Given the description of an element on the screen output the (x, y) to click on. 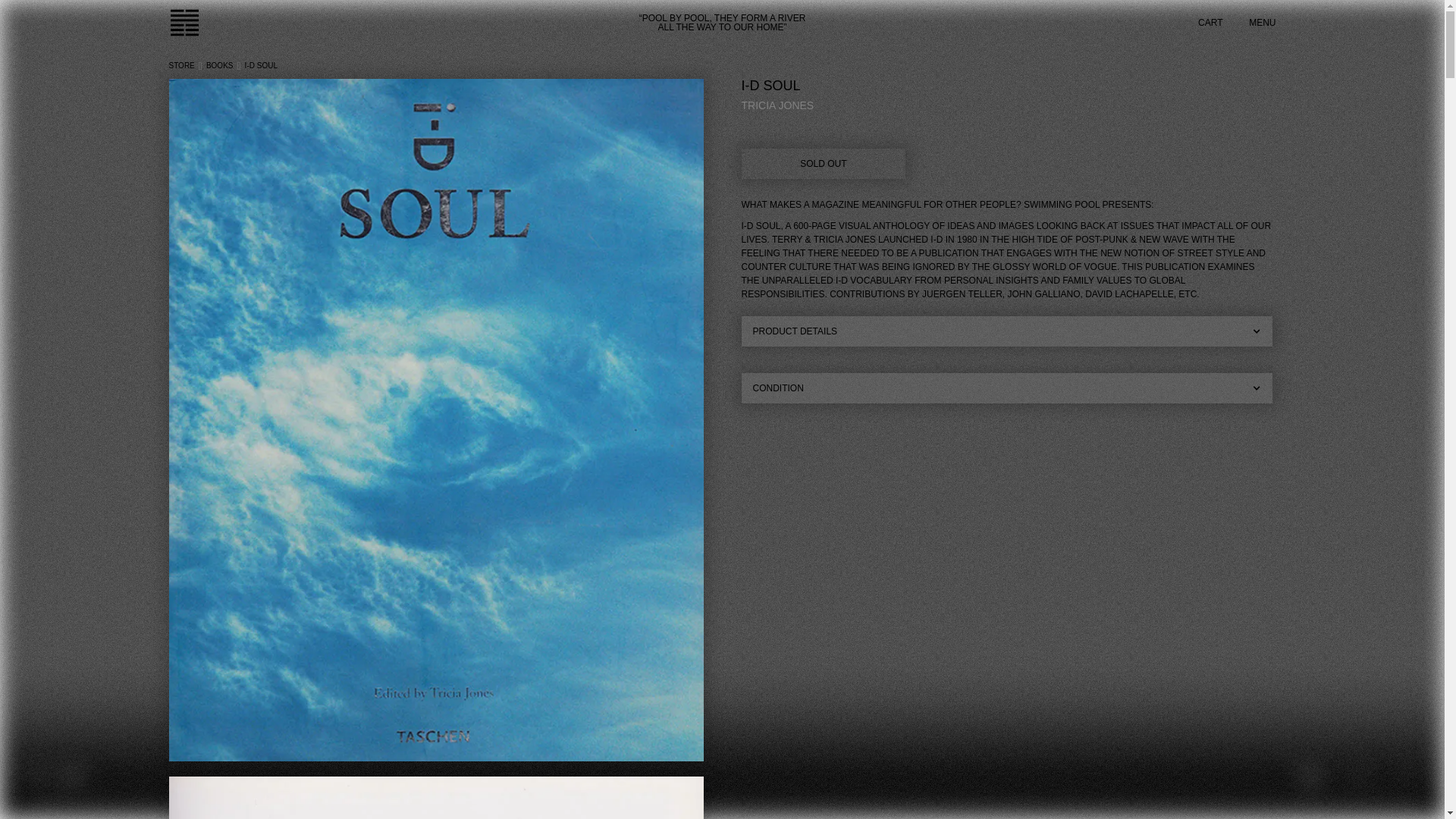
BOOKS (219, 65)
STORE (180, 65)
